Given the description of an element on the screen output the (x, y) to click on. 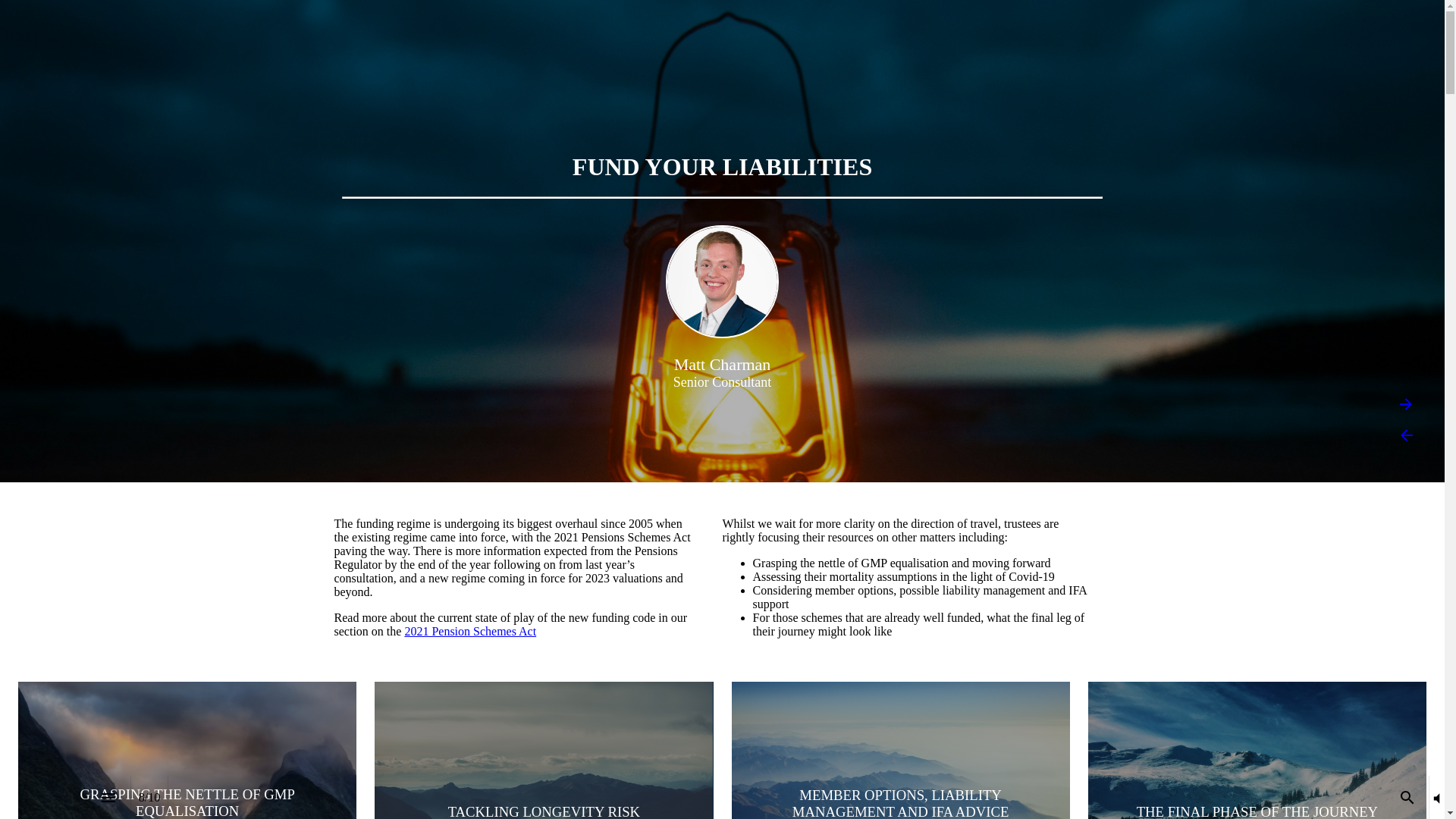
2021 Pension Schemes Act (469, 631)
